Given the description of an element on the screen output the (x, y) to click on. 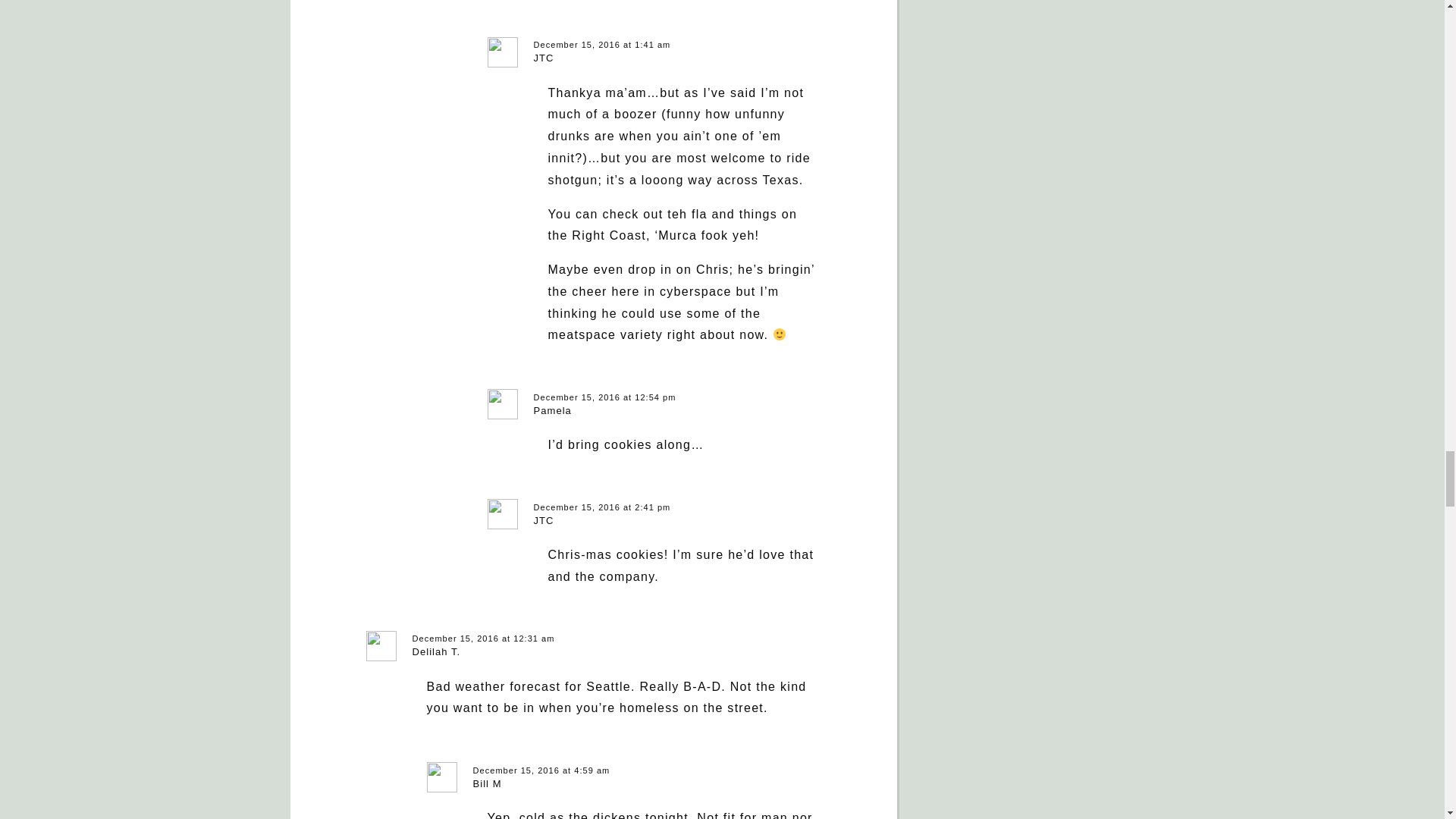
JTC (544, 520)
JTC (544, 57)
